Given the description of an element on the screen output the (x, y) to click on. 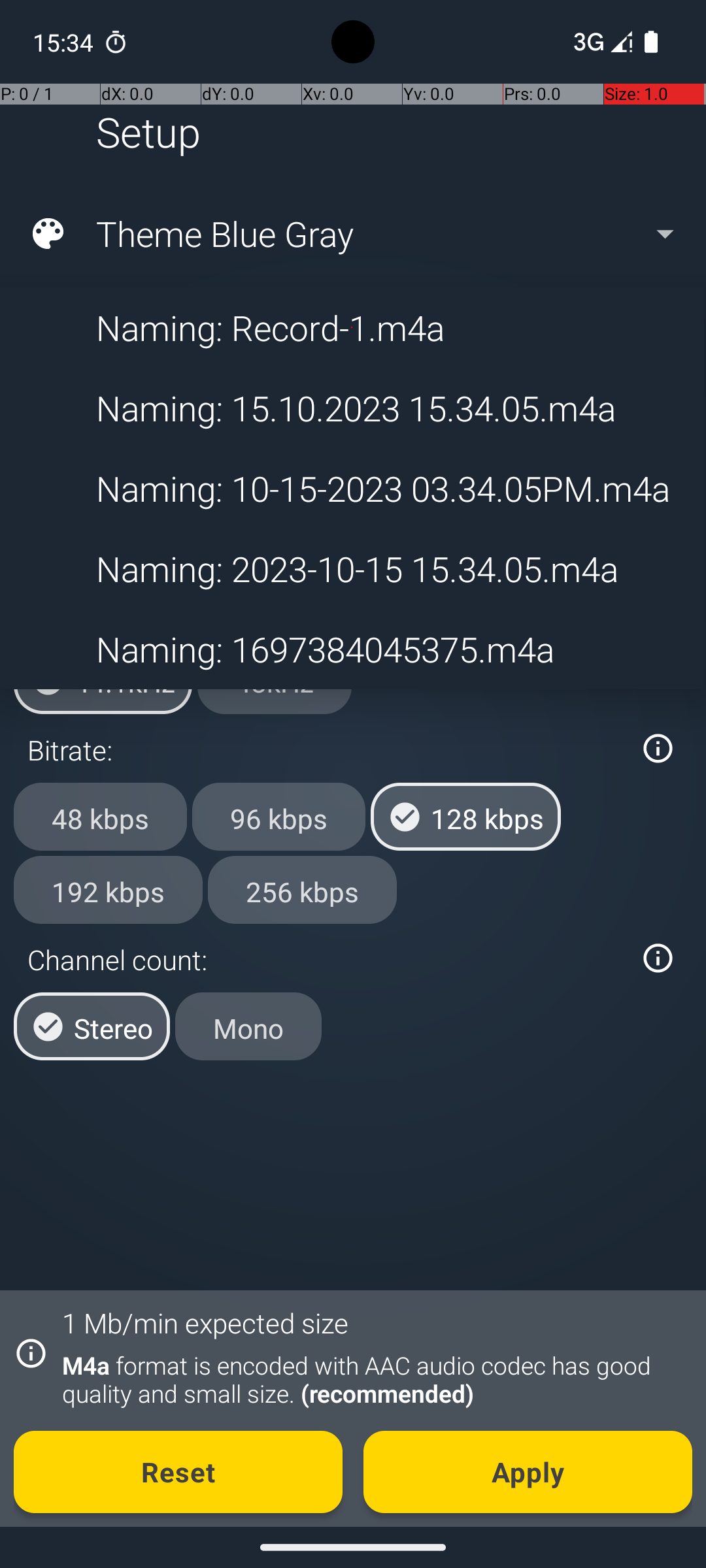
Naming: 15.10.2023 15.34.05.m4a Element type: android.widget.TextView (352, 407)
Naming: 10-15-2023 03.34.05PM.m4a Element type: android.widget.TextView (352, 488)
Naming: 2023-10-15 15.34.05.m4a Element type: android.widget.TextView (352, 568)
Naming: 1697384045375.m4a Element type: android.widget.TextView (352, 648)
